Given the description of an element on the screen output the (x, y) to click on. 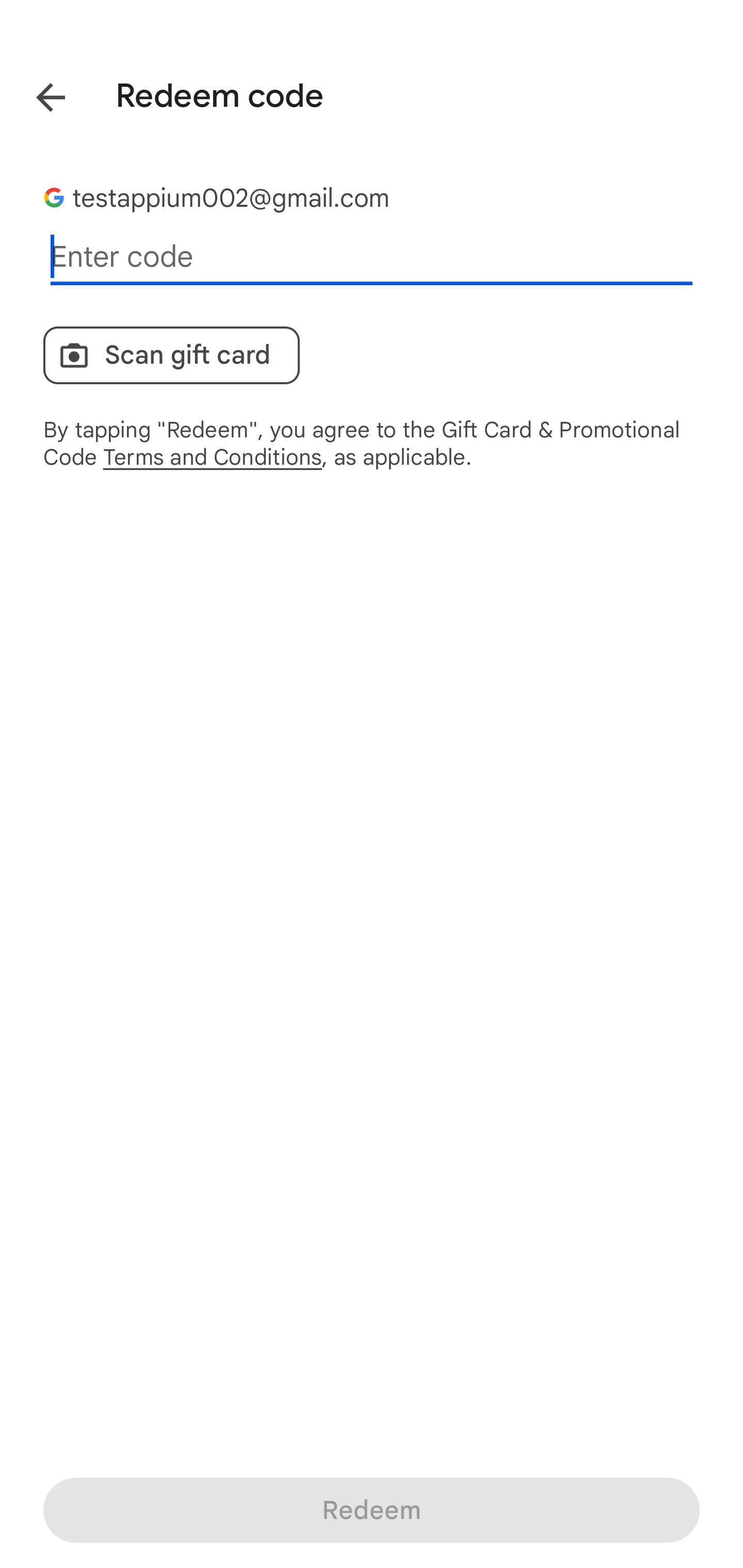
Back (36, 94)
Enter code (371, 256)
Scan gift card (171, 355)
